Given the description of an element on the screen output the (x, y) to click on. 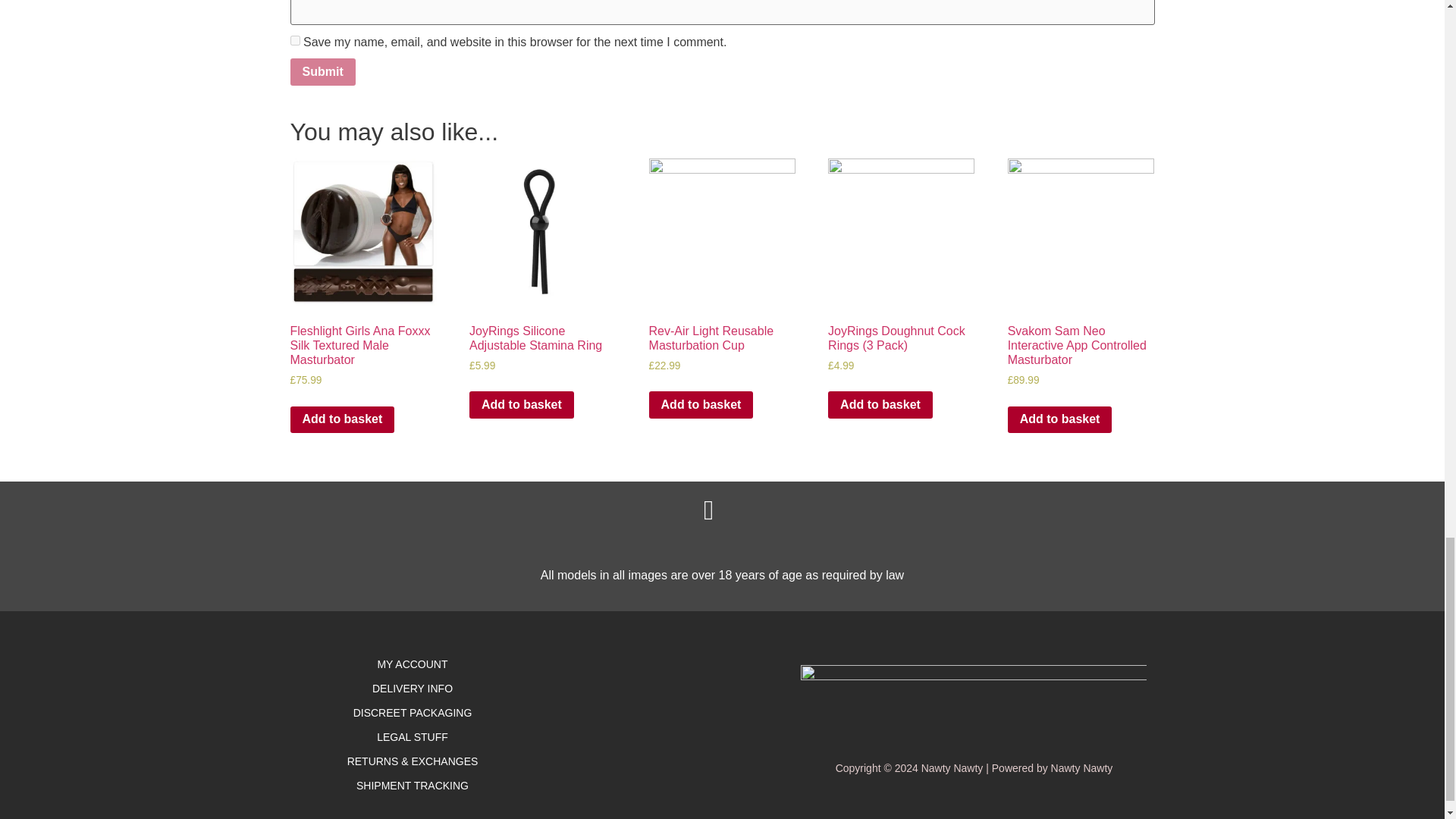
Submit (322, 71)
yes (294, 40)
